Given the description of an element on the screen output the (x, y) to click on. 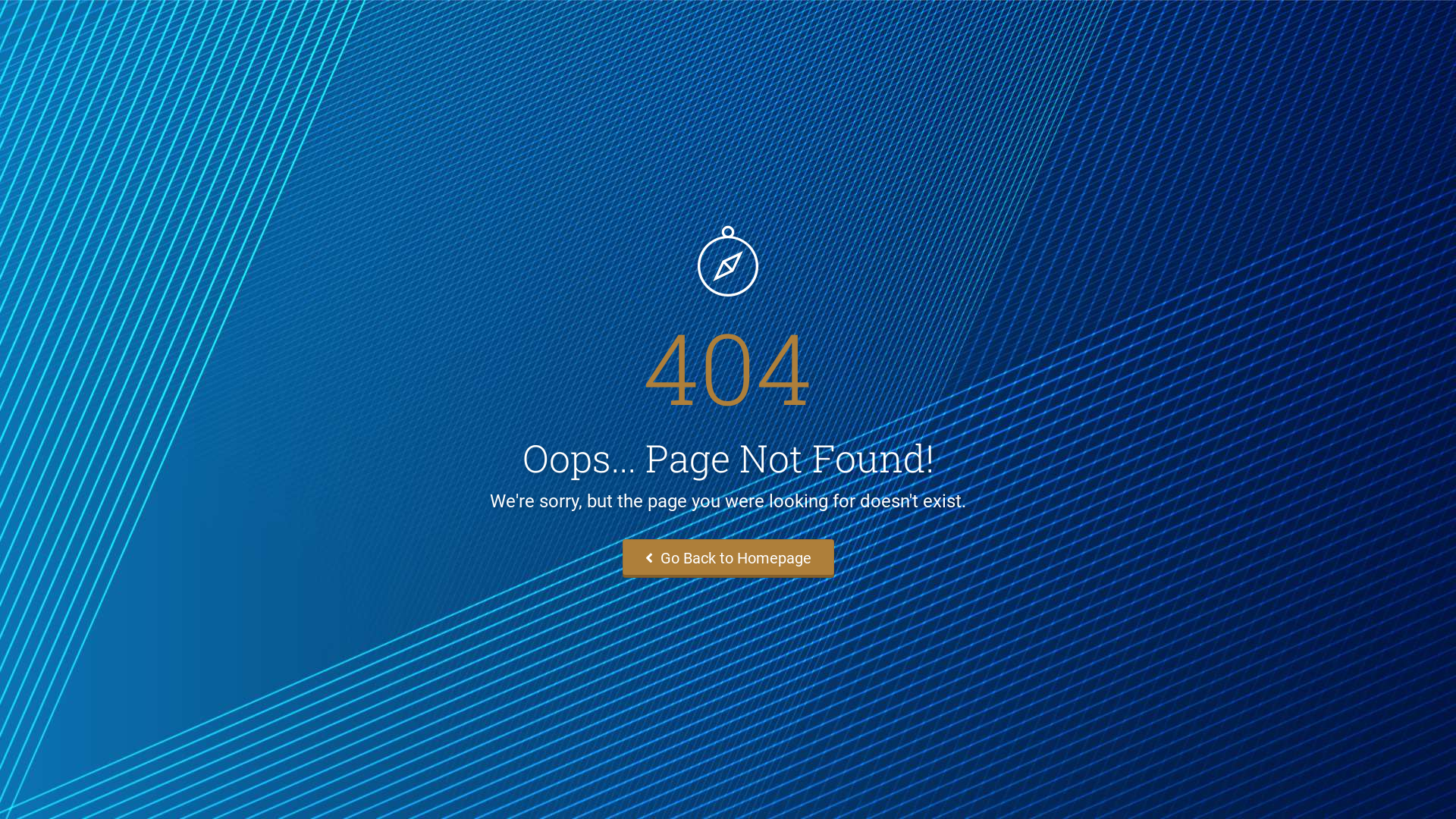
Go Back to Homepage Element type: text (727, 558)
